Given the description of an element on the screen output the (x, y) to click on. 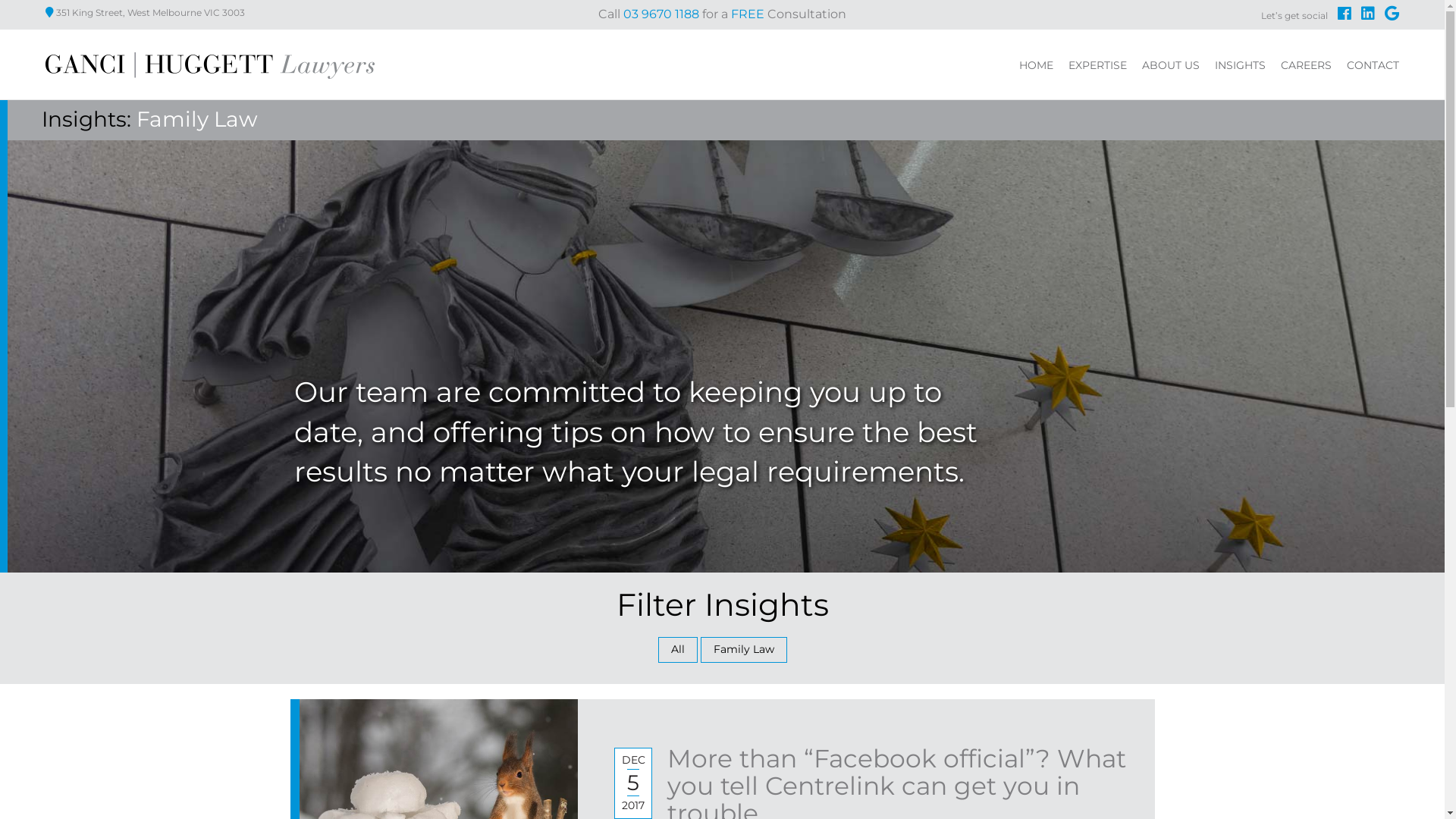
03 9670 1188 Element type: text (661, 13)
EXPERTISE Element type: text (1097, 66)
HOME Element type: text (1036, 66)
FREE Element type: text (747, 13)
CONTACT Element type: text (1372, 66)
Family Law Element type: text (196, 118)
ABOUT US Element type: text (1170, 66)
INSIGHTS Element type: text (1239, 66)
Family Law Element type: text (743, 649)
All Element type: text (677, 649)
CAREERS Element type: text (1305, 66)
